Given the description of an element on the screen output the (x, y) to click on. 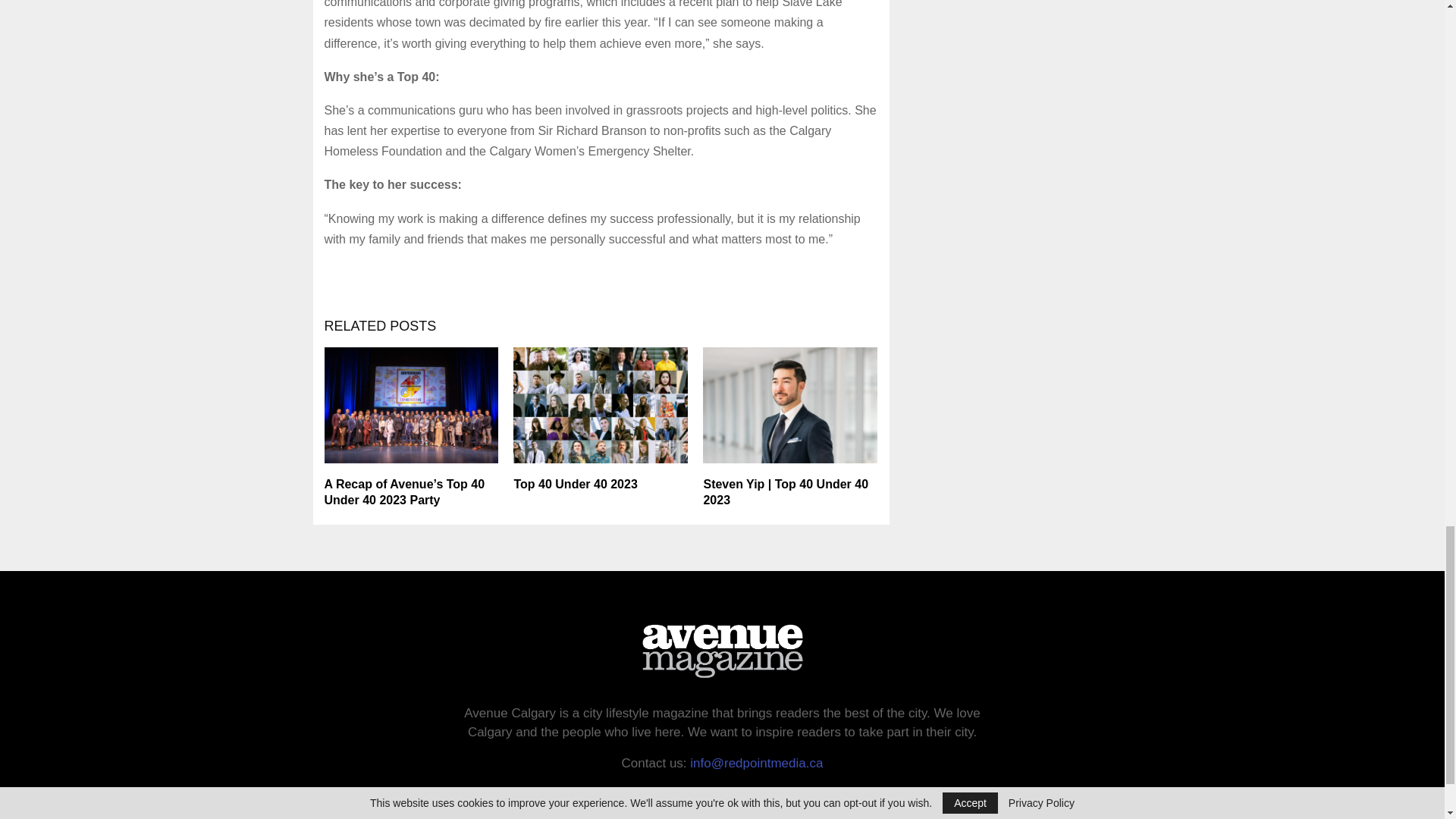
Twitter (721, 805)
Instagram (770, 805)
Facebook (673, 805)
